Given the description of an element on the screen output the (x, y) to click on. 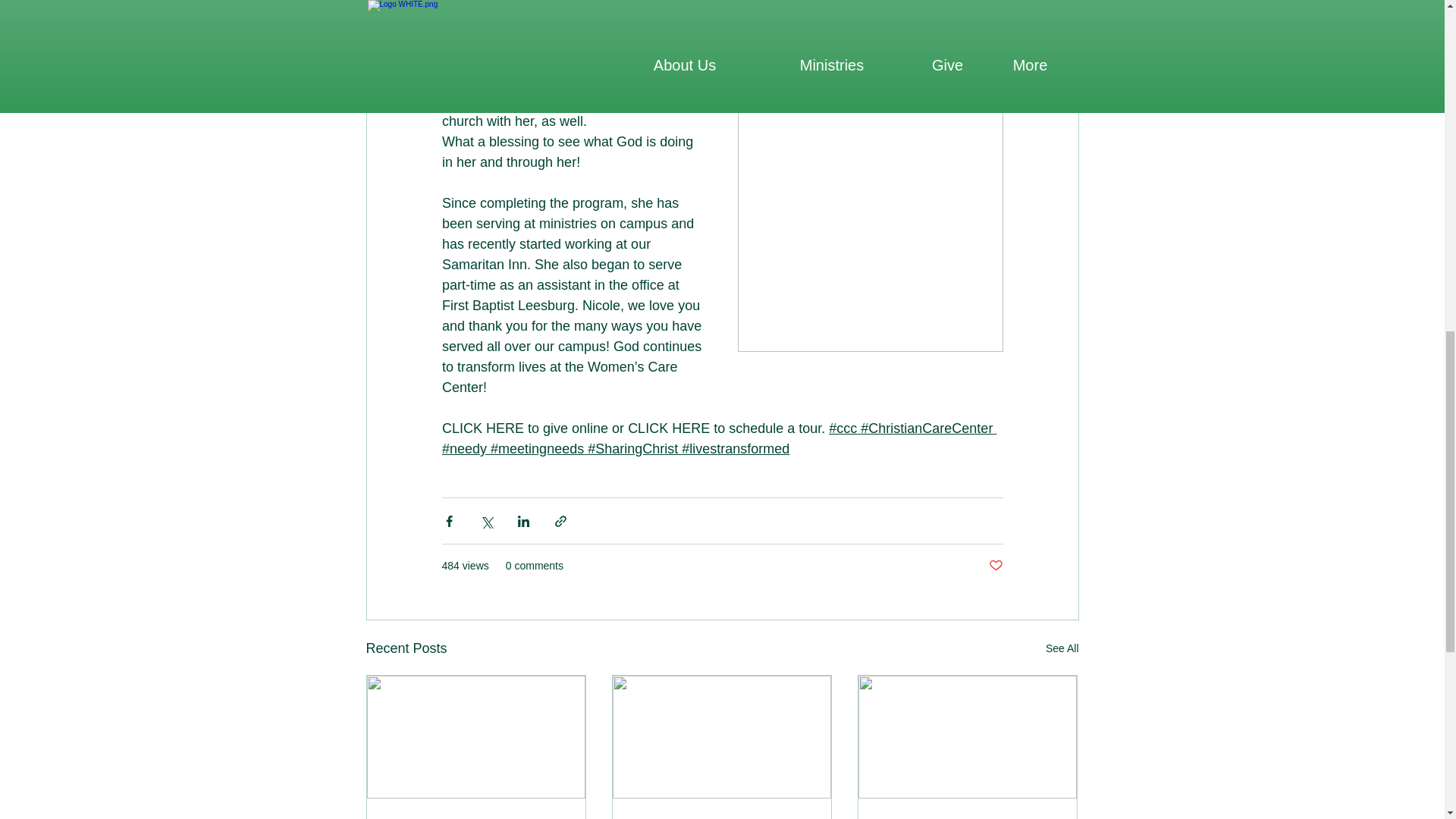
CLICK HERE (481, 427)
CLICK HERE (668, 427)
See All (1061, 649)
Post not marked as liked (995, 565)
